Given the description of an element on the screen output the (x, y) to click on. 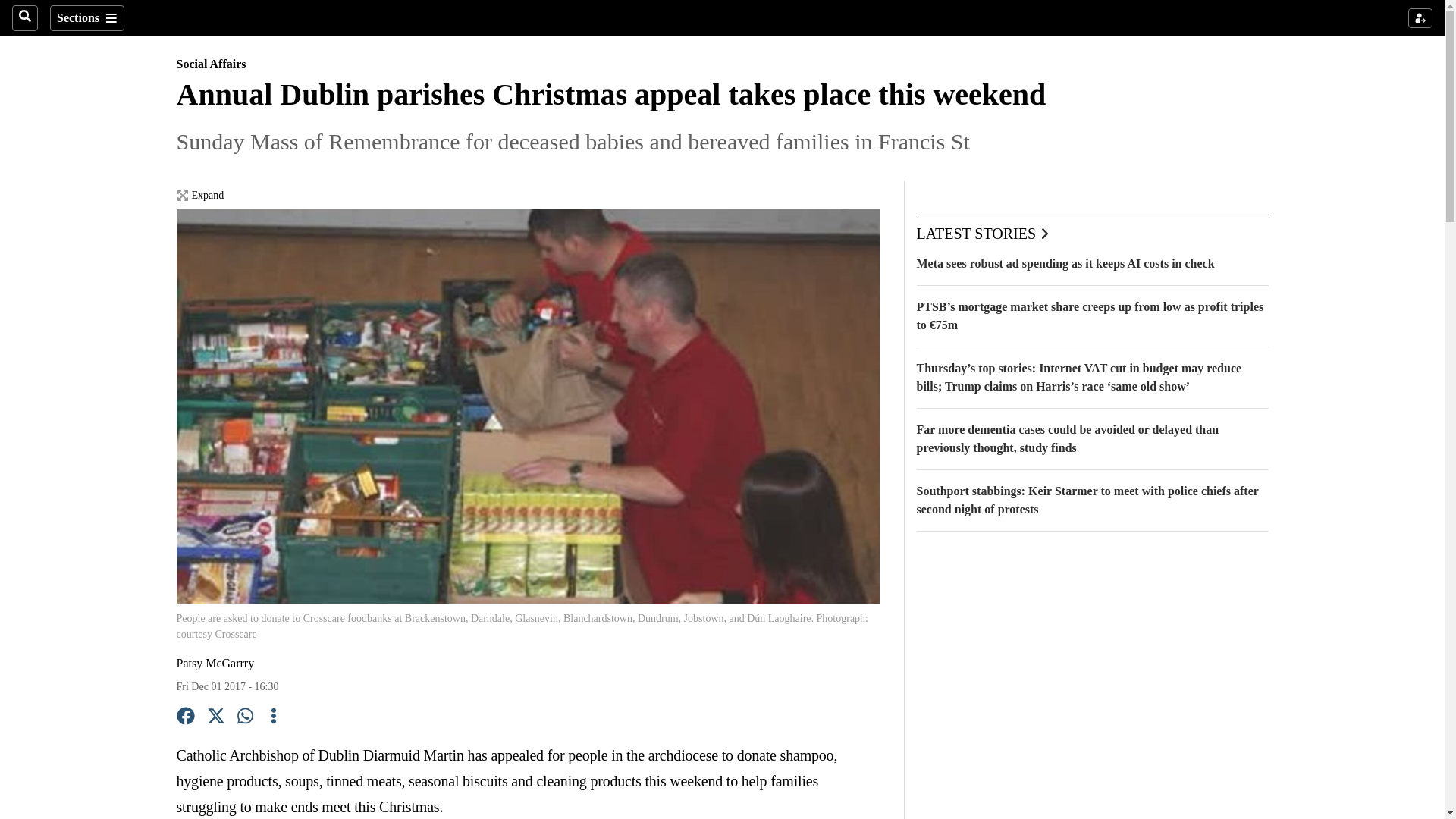
Sections (86, 17)
